Given the description of an element on the screen output the (x, y) to click on. 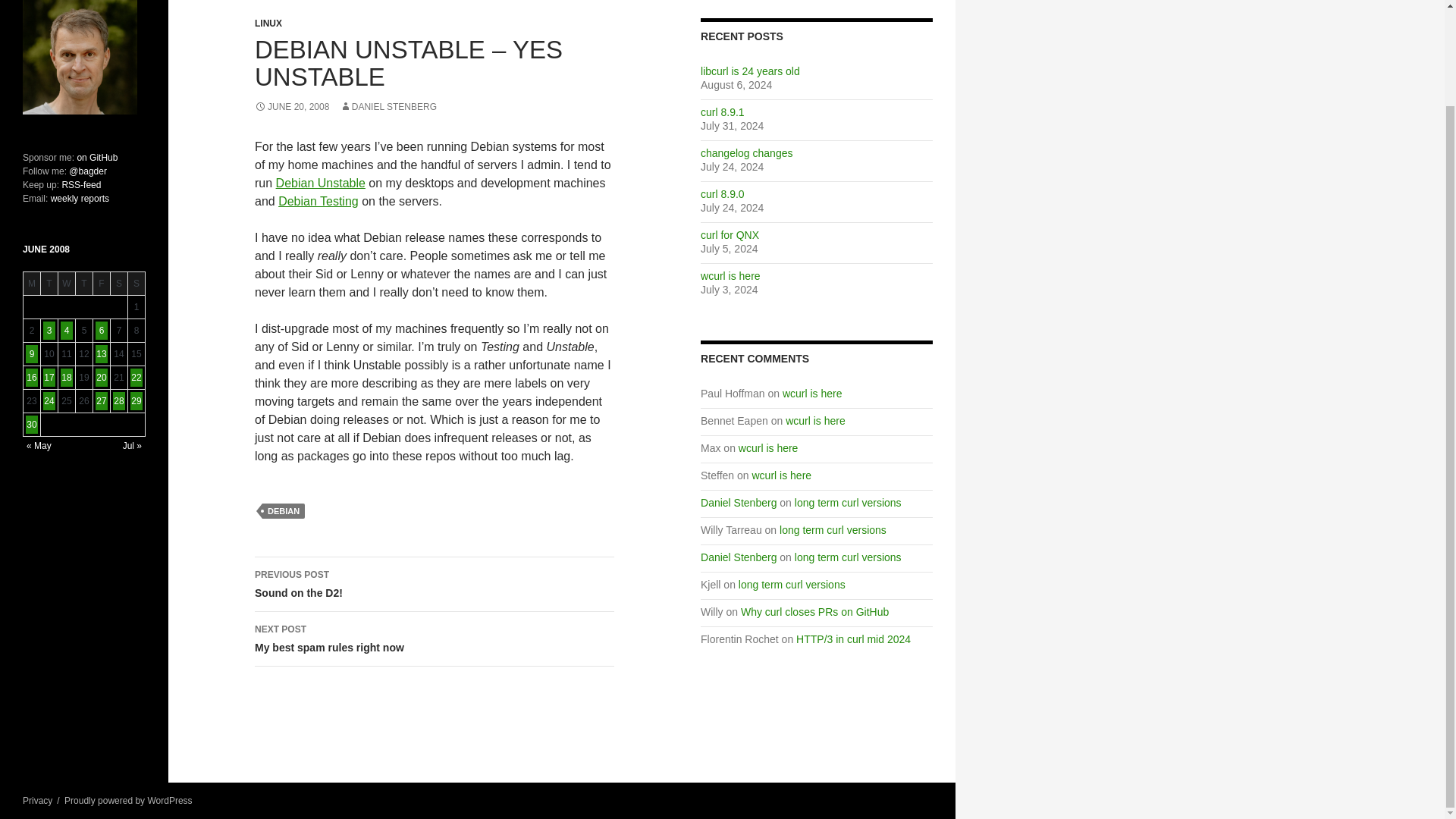
wcurl is here (767, 448)
libcurl is 24 years old (749, 70)
Daniel Stenberg (738, 502)
RSS-feed (80, 184)
Why curl closes PRs on GitHub (814, 612)
JUNE 20, 2008 (291, 106)
wcurl is here (434, 584)
curl for QNX (730, 275)
long term curl versions (729, 234)
changelog changes (847, 557)
DANIEL STENBERG (434, 638)
weekly reports (746, 152)
Debian Testing (387, 106)
